Given the description of an element on the screen output the (x, y) to click on. 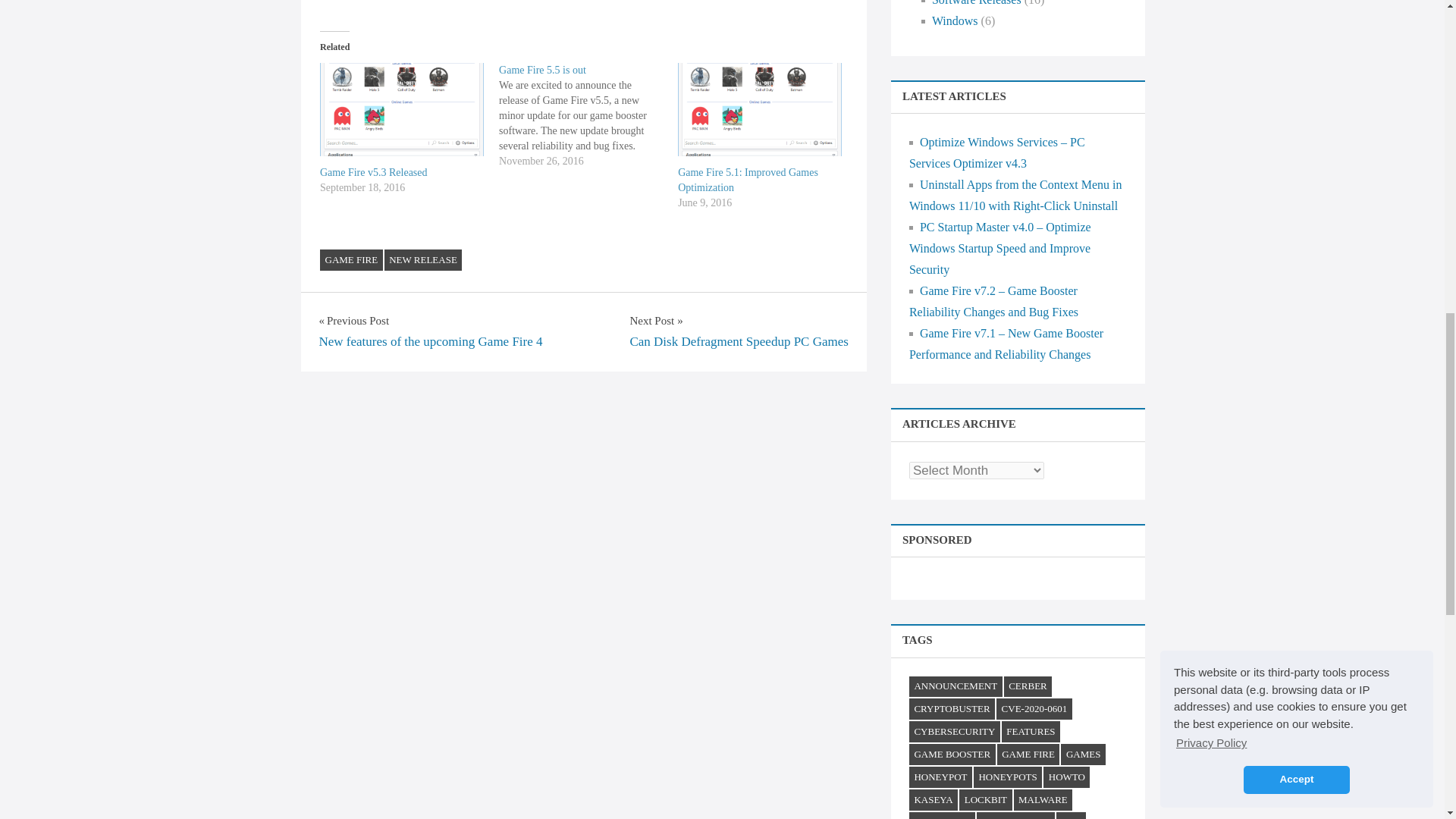
Game Fire v5.3 Released (401, 109)
Game Fire 5.1: Improved Games Optimization (759, 109)
Game Fire 5.1: Improved Games Optimization (748, 180)
Game Fire v5.3 Released (374, 172)
Game Fire 5.5 is out (588, 115)
Game Fire 5.5 is out (542, 70)
